Given the description of an element on the screen output the (x, y) to click on. 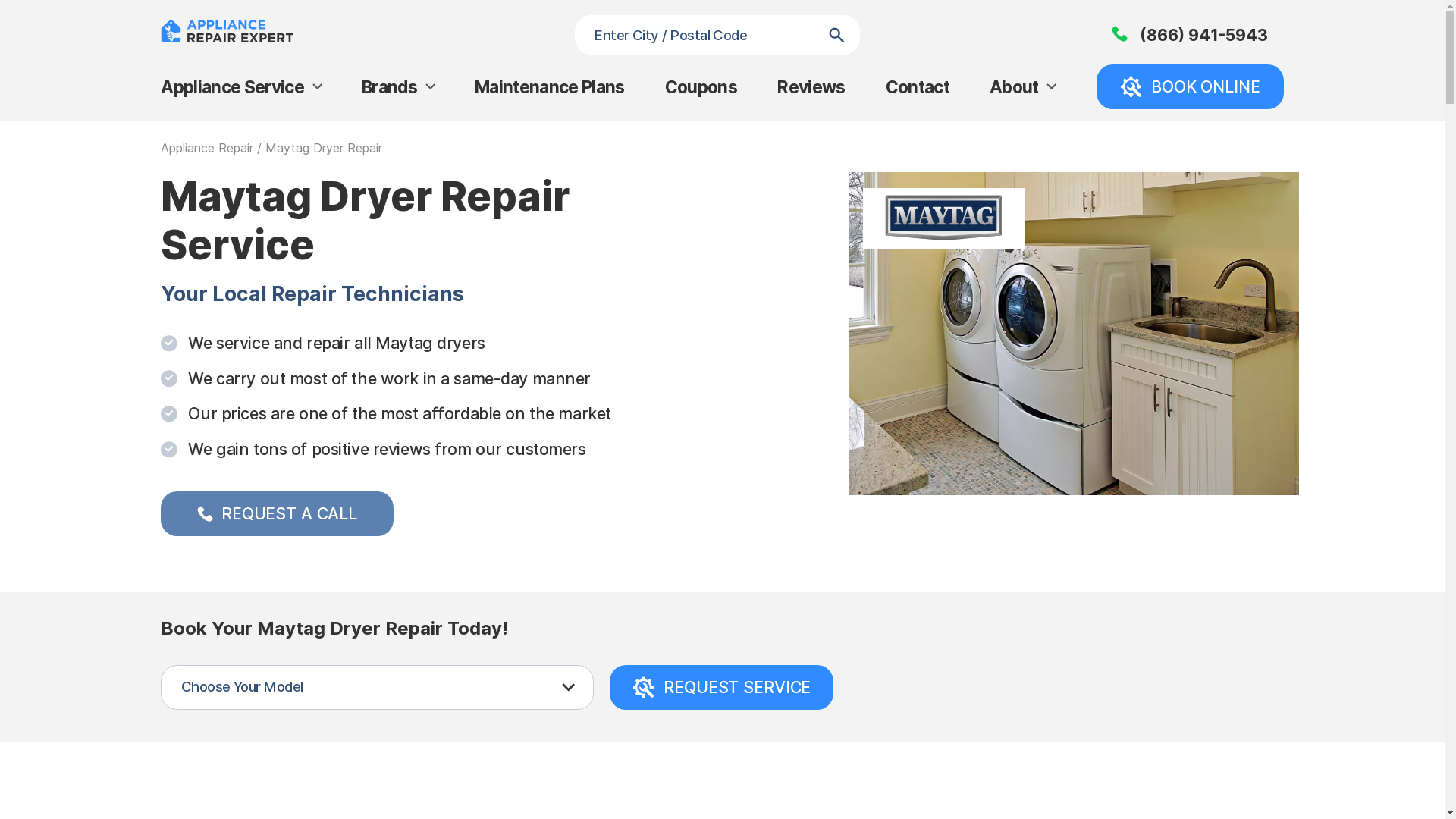
(866) 941-5943 Element type: text (1189, 34)
Appliance Repair Element type: text (206, 147)
REQUEST A CALL Element type: text (276, 513)
REQUEST SERVICE Element type: text (721, 687)
I AM WAITING FOR A CALL Element type: text (895, 436)
